Given the description of an element on the screen output the (x, y) to click on. 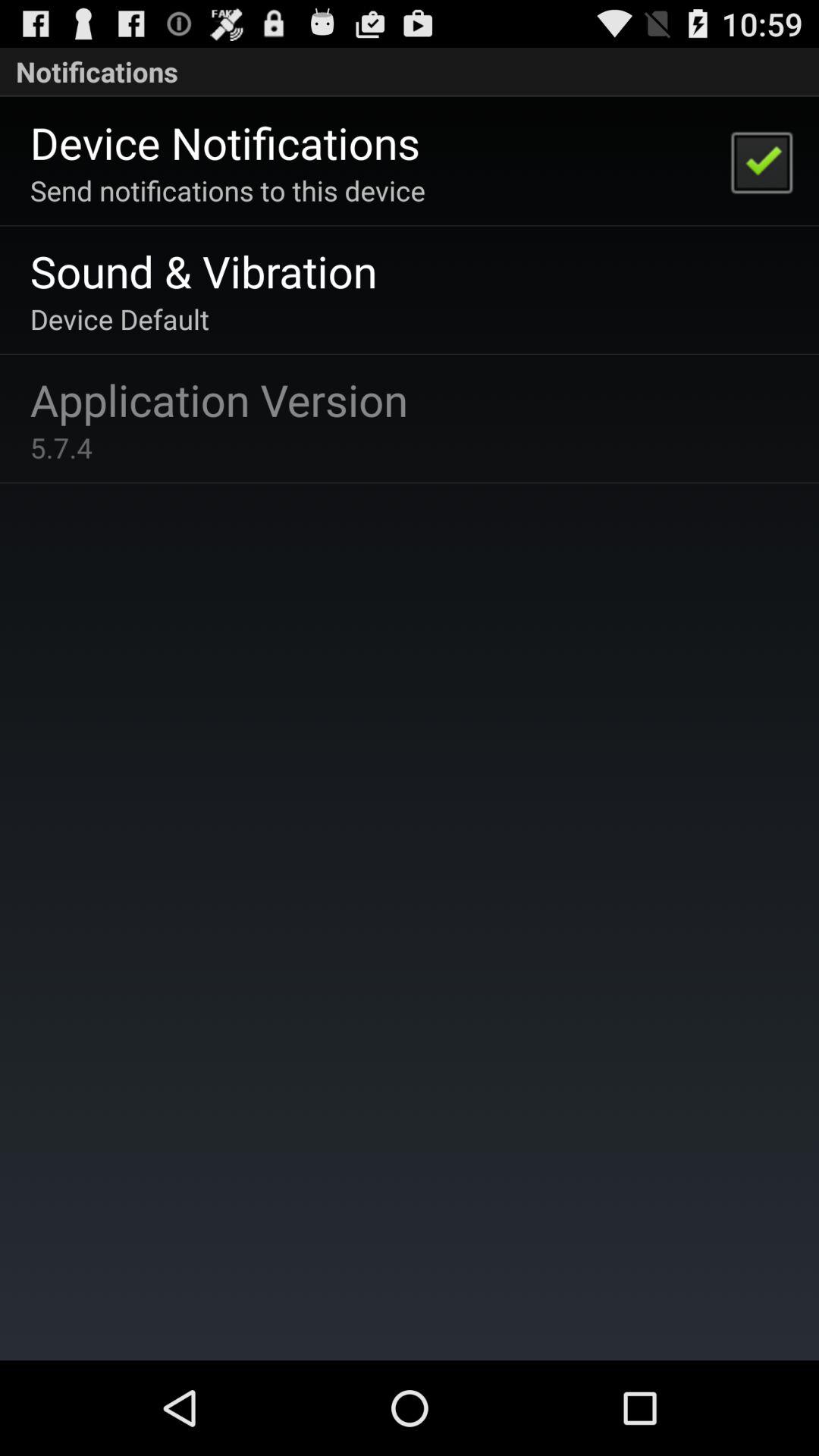
click the icon above application version app (119, 318)
